Given the description of an element on the screen output the (x, y) to click on. 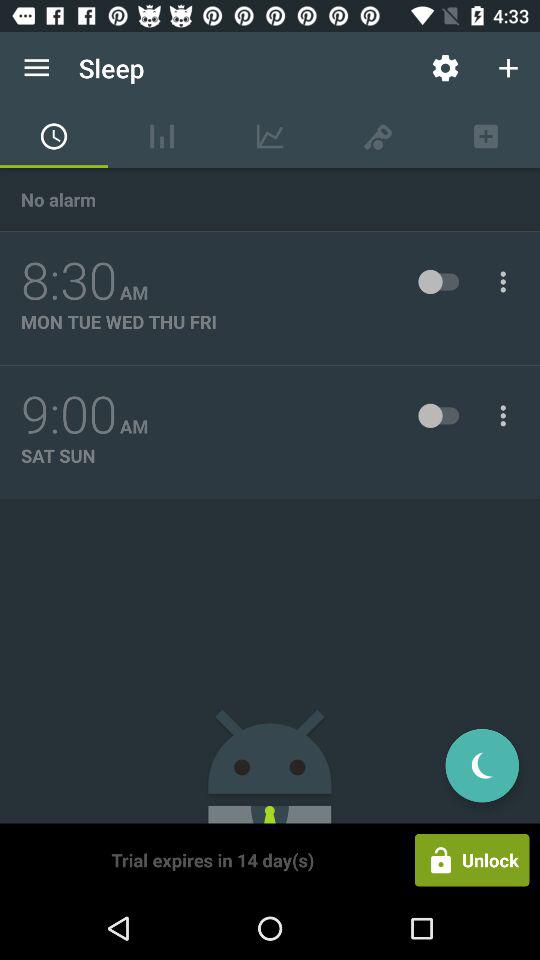
select the icon above the mon tue wed item (69, 281)
